Given the description of an element on the screen output the (x, y) to click on. 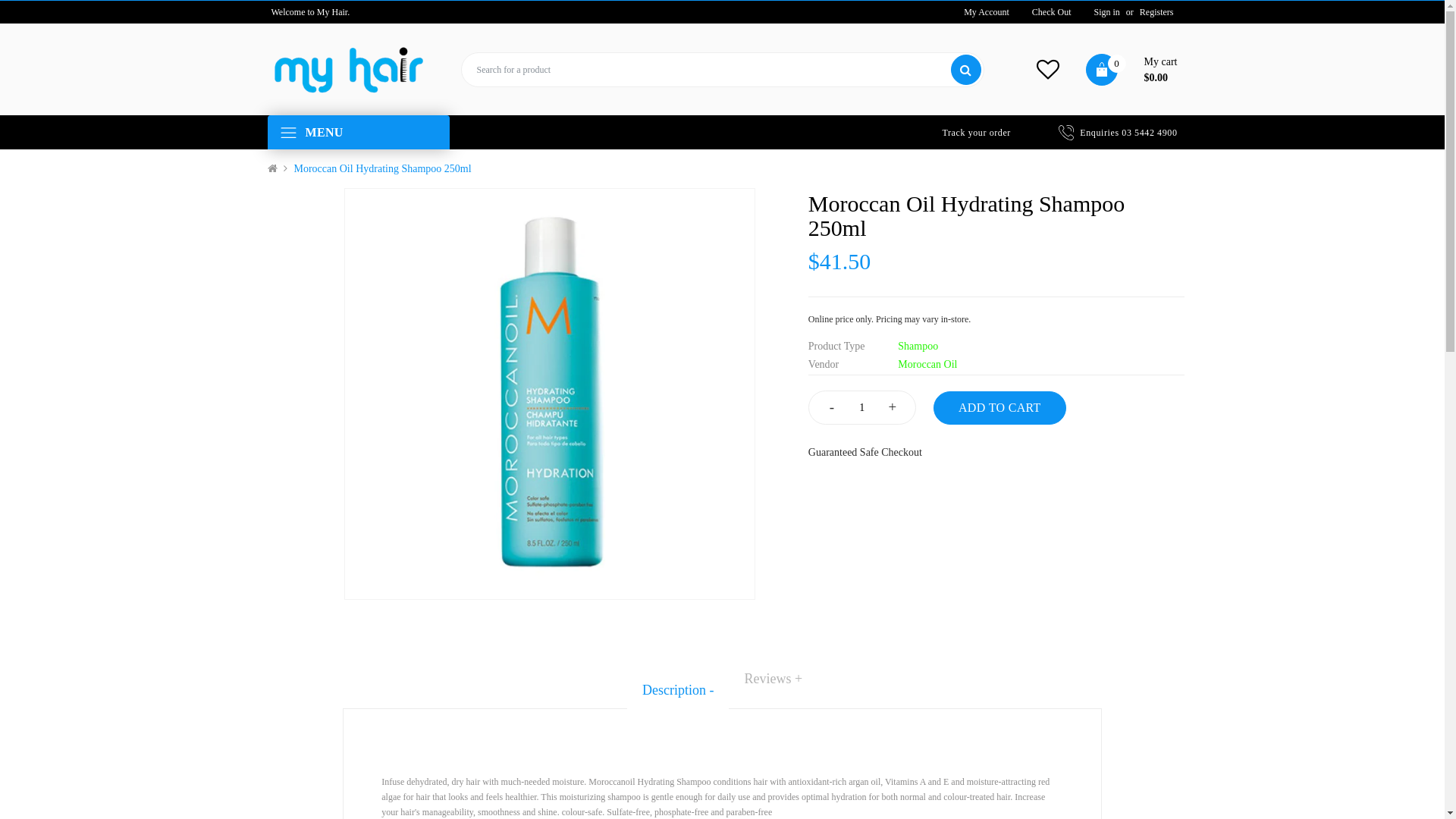
0 Element type: text (1101, 69)
My Account Element type: text (986, 12)
Add to Cart Element type: text (999, 407)
MENU Element type: text (323, 132)
Sign in Element type: text (1107, 12)
Reviews Element type: text (772, 678)
Description Element type: text (677, 690)
Check Out Element type: text (1051, 12)
Track your order Element type: text (975, 132)
Registers Element type: text (1156, 12)
